Given the description of an element on the screen output the (x, y) to click on. 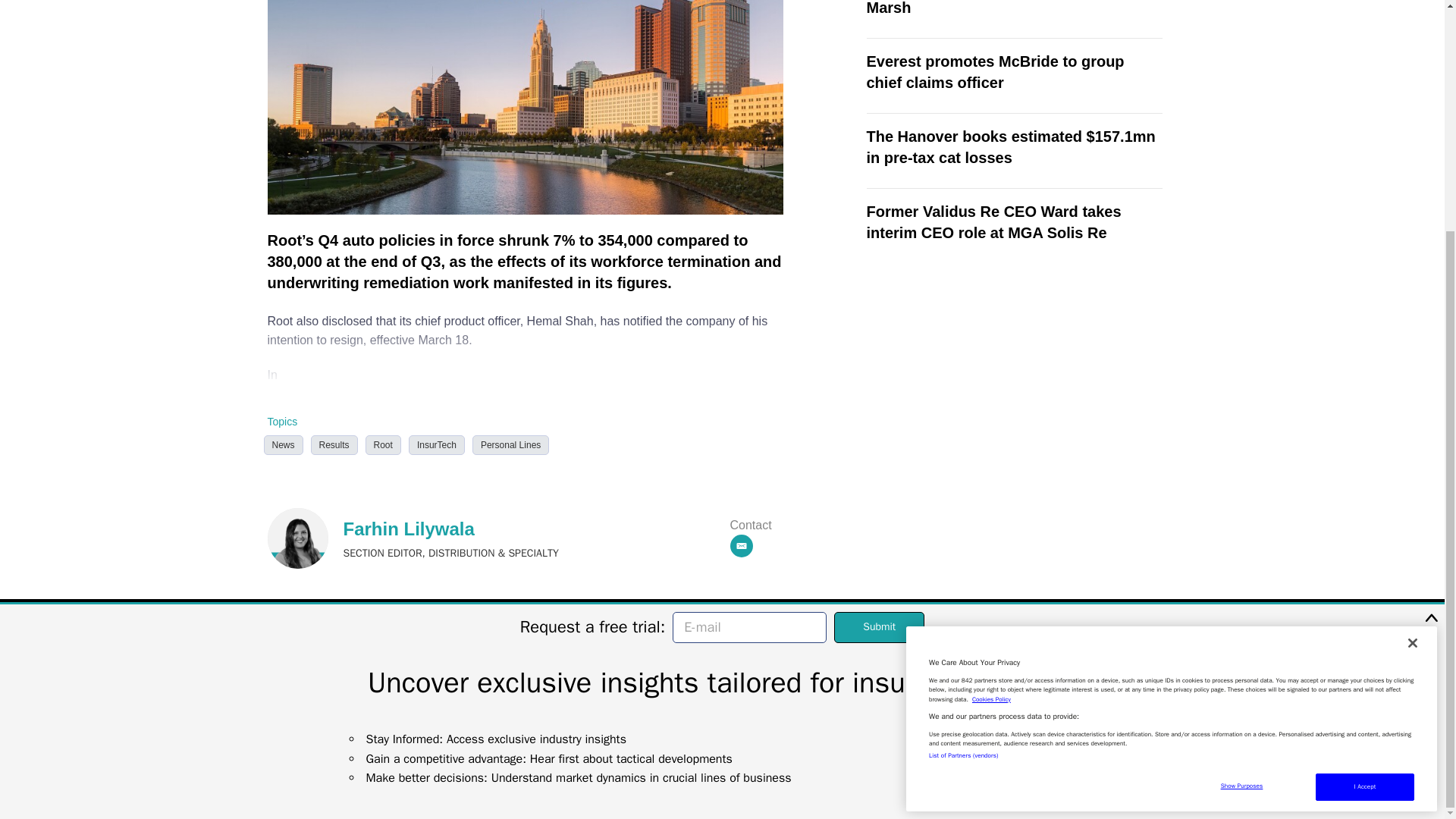
Submit (879, 314)
